Given the description of an element on the screen output the (x, y) to click on. 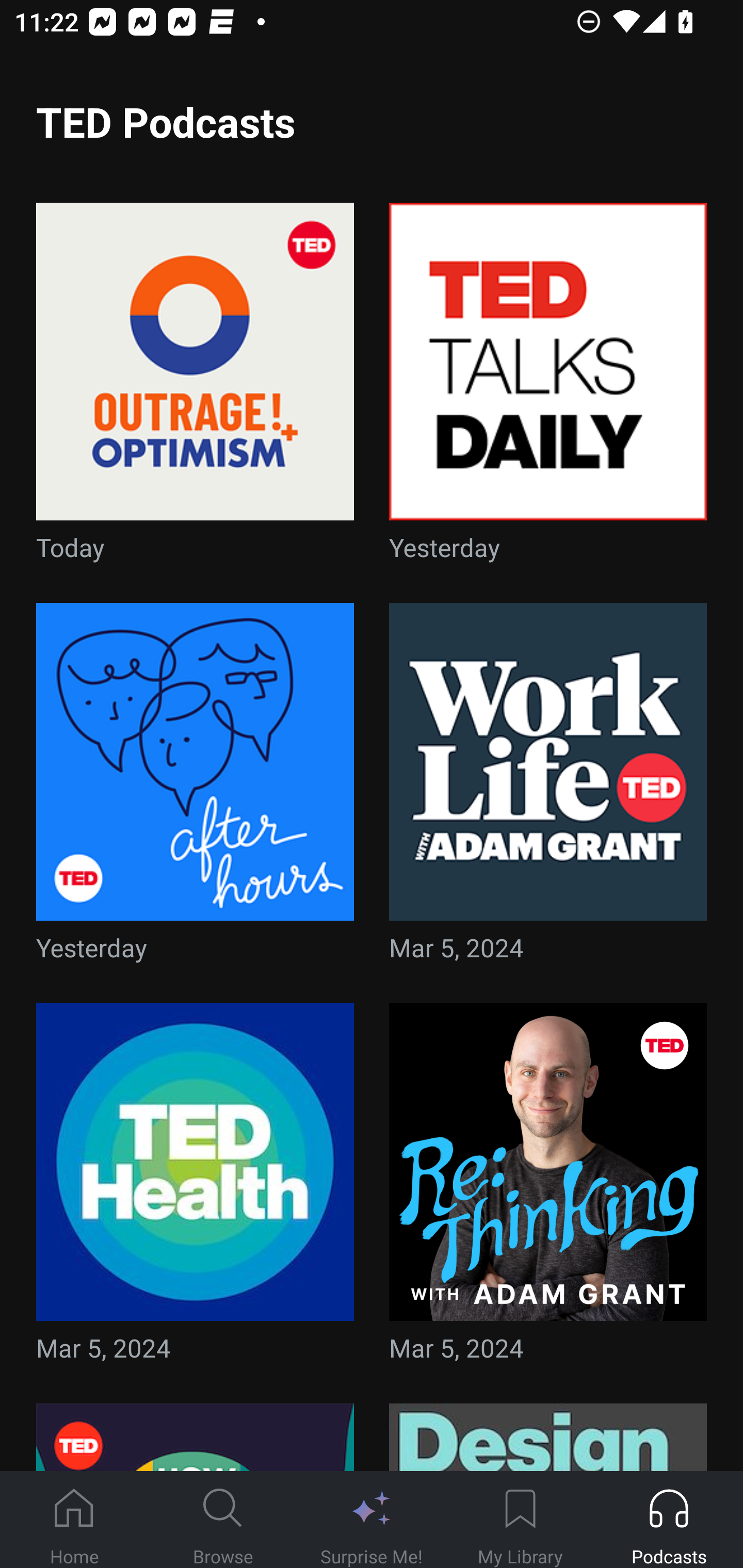
Today (194, 387)
Yesterday (547, 387)
Yesterday (194, 788)
Mar 5, 2024 (547, 788)
Mar 5, 2024 (194, 1189)
Mar 5, 2024 (547, 1189)
Home (74, 1520)
Browse (222, 1520)
Surprise Me! (371, 1520)
My Library (519, 1520)
Podcasts (668, 1520)
